Given the description of an element on the screen output the (x, y) to click on. 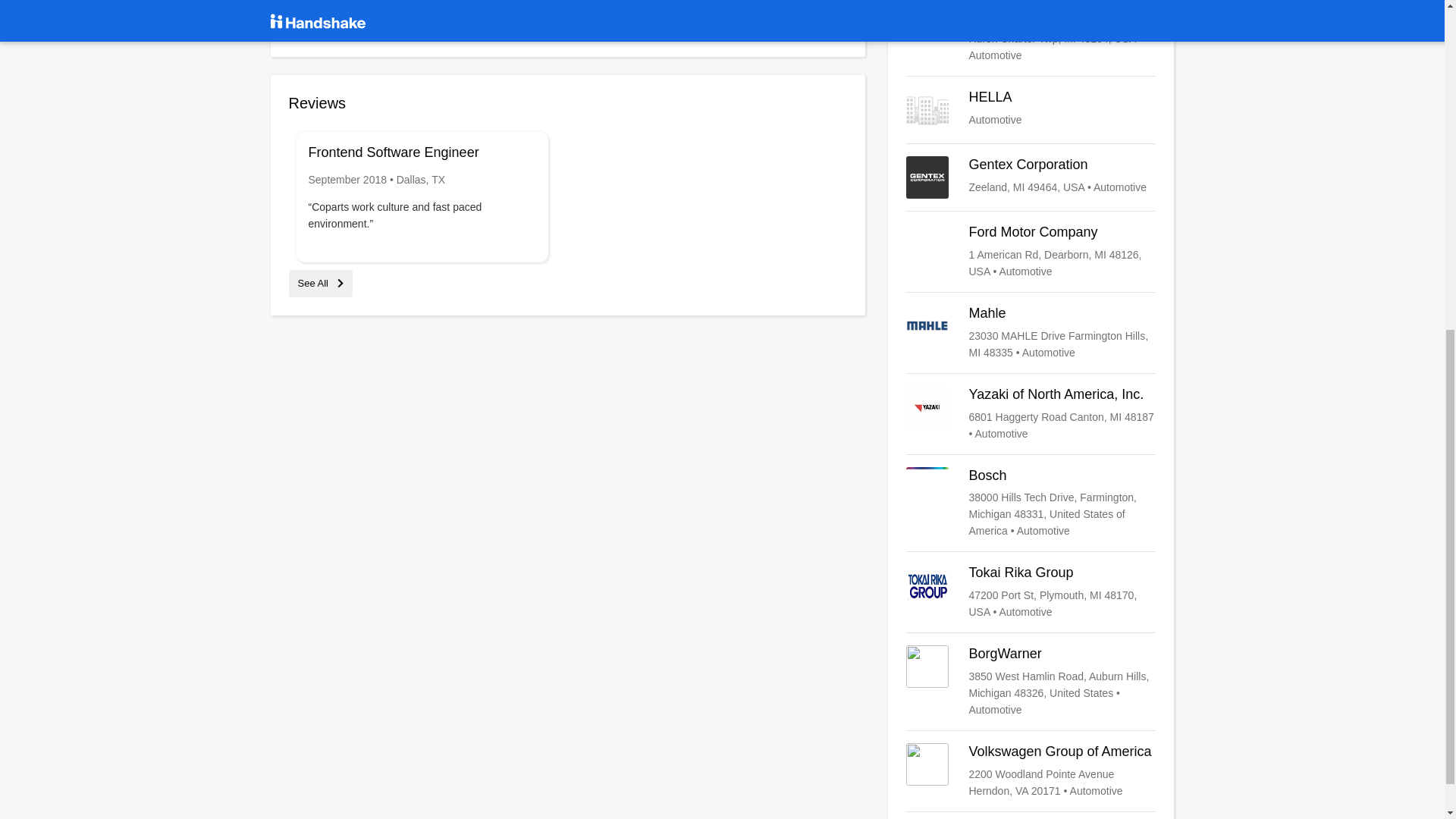
See All (320, 283)
Mahle (1030, 332)
Volkswagen Group of America (1030, 770)
Bosch (1030, 502)
Gentex Corporation (1030, 177)
HELLA (1030, 109)
Yazaki of North America, Inc. (1030, 109)
AUTOKINITON (1030, 413)
BorgWarner (1030, 31)
Tokai Rika Group (1030, 681)
Ford Motor Company (1030, 591)
